Given the description of an element on the screen output the (x, y) to click on. 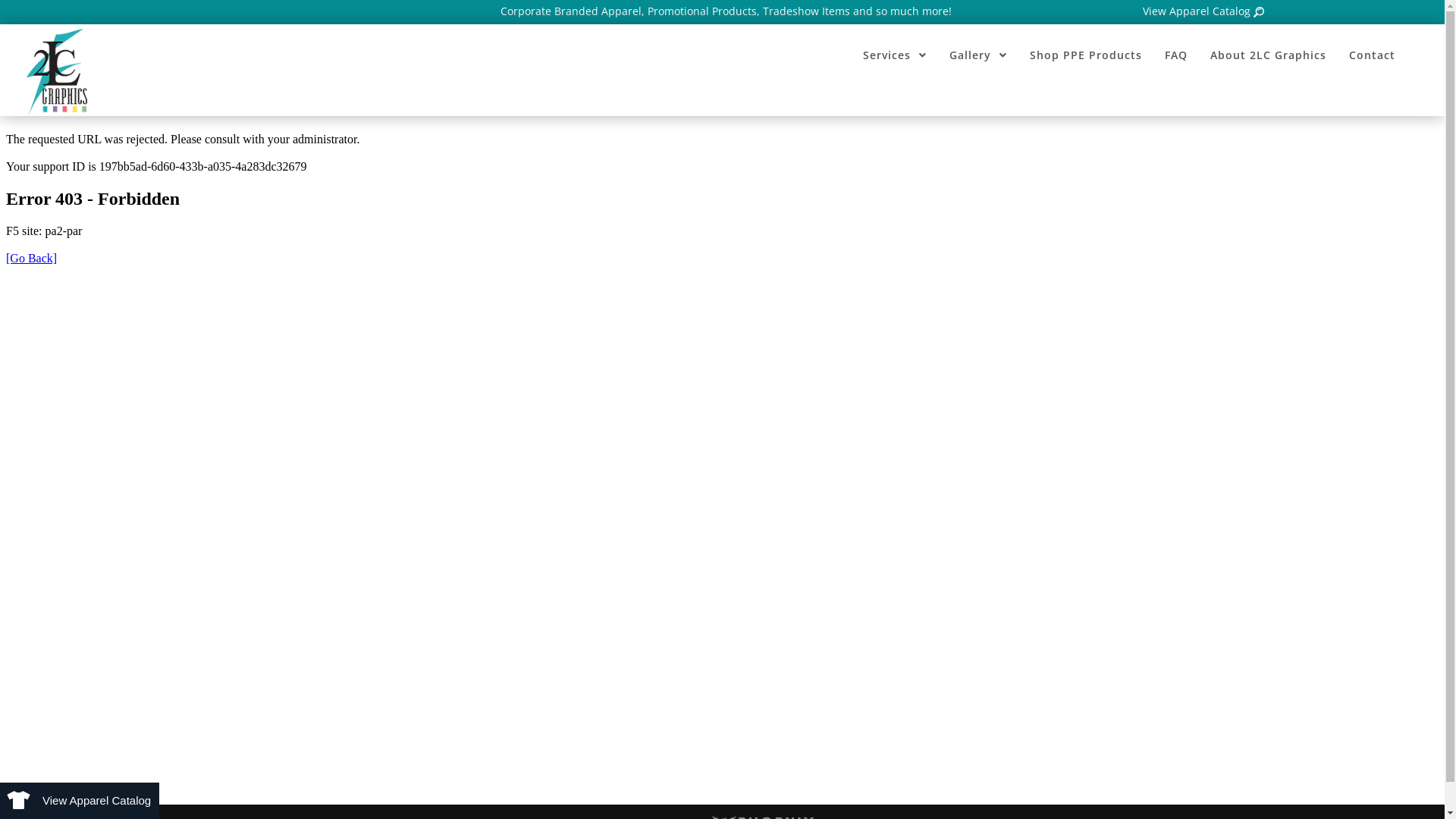
FAQ Element type: text (1175, 54)
About 2LC Graphics Element type: text (1267, 54)
Contact Element type: text (1371, 54)
Shop PPE Products Element type: text (1085, 54)
View Apparel Catalog Element type: text (1203, 10)
Gallery Element type: text (978, 54)
Services Element type: text (894, 54)
